Given the description of an element on the screen output the (x, y) to click on. 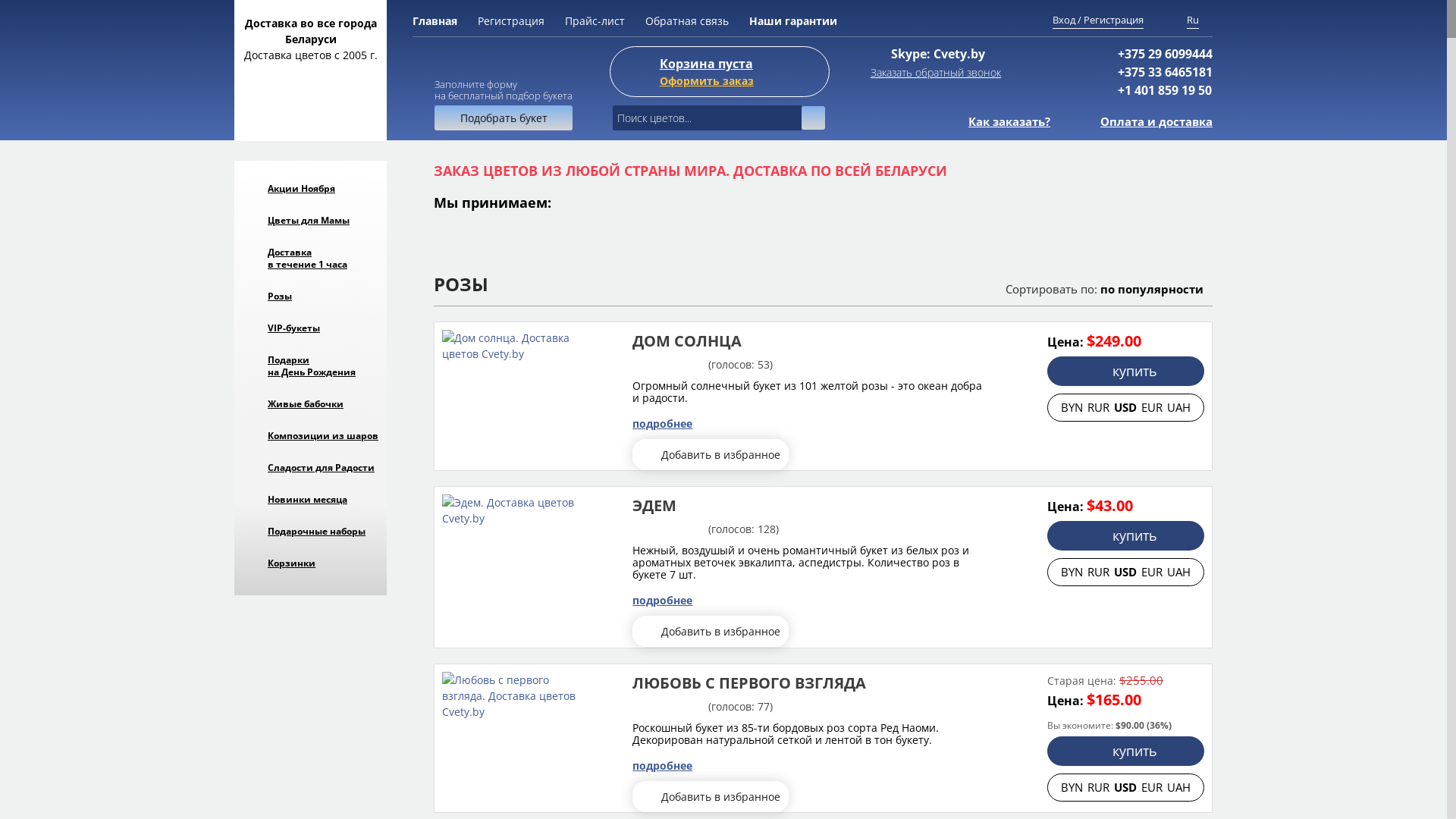
RUR Element type: text (1099, 406)
EUR Element type: text (1153, 571)
Ru Element type: text (1192, 20)
RUR Element type: text (1099, 571)
UAH Element type: text (1178, 406)
USD Element type: text (1126, 406)
EUR Element type: text (1153, 786)
EUR Element type: text (1153, 406)
USD Element type: text (1126, 571)
UAH Element type: text (1178, 786)
USD Element type: text (1126, 786)
BYN Element type: text (1072, 406)
BYN Element type: text (1072, 571)
Skype: Cvety.by Element type: text (938, 53)
UAH Element type: text (1178, 571)
RUR Element type: text (1099, 786)
BYN Element type: text (1072, 786)
